Given the description of an element on the screen output the (x, y) to click on. 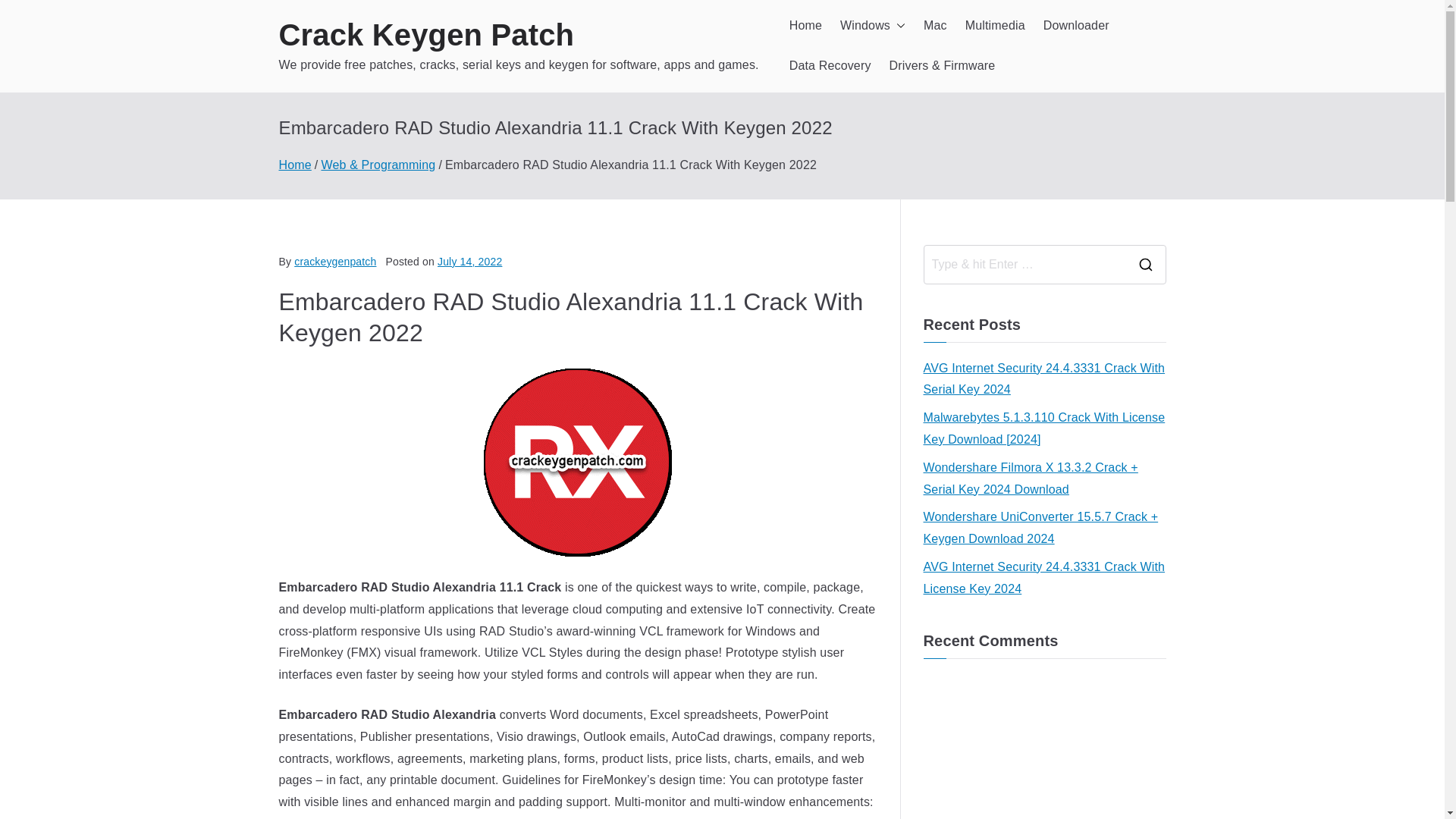
Crack Keygen Patch (427, 34)
Mac (935, 25)
crackeygenpatch (334, 261)
Home (805, 25)
Downloader (1076, 25)
Home (295, 164)
Search for: (1024, 264)
Windows (872, 25)
July 14, 2022 (470, 261)
Data Recovery (829, 65)
